Given the description of an element on the screen output the (x, y) to click on. 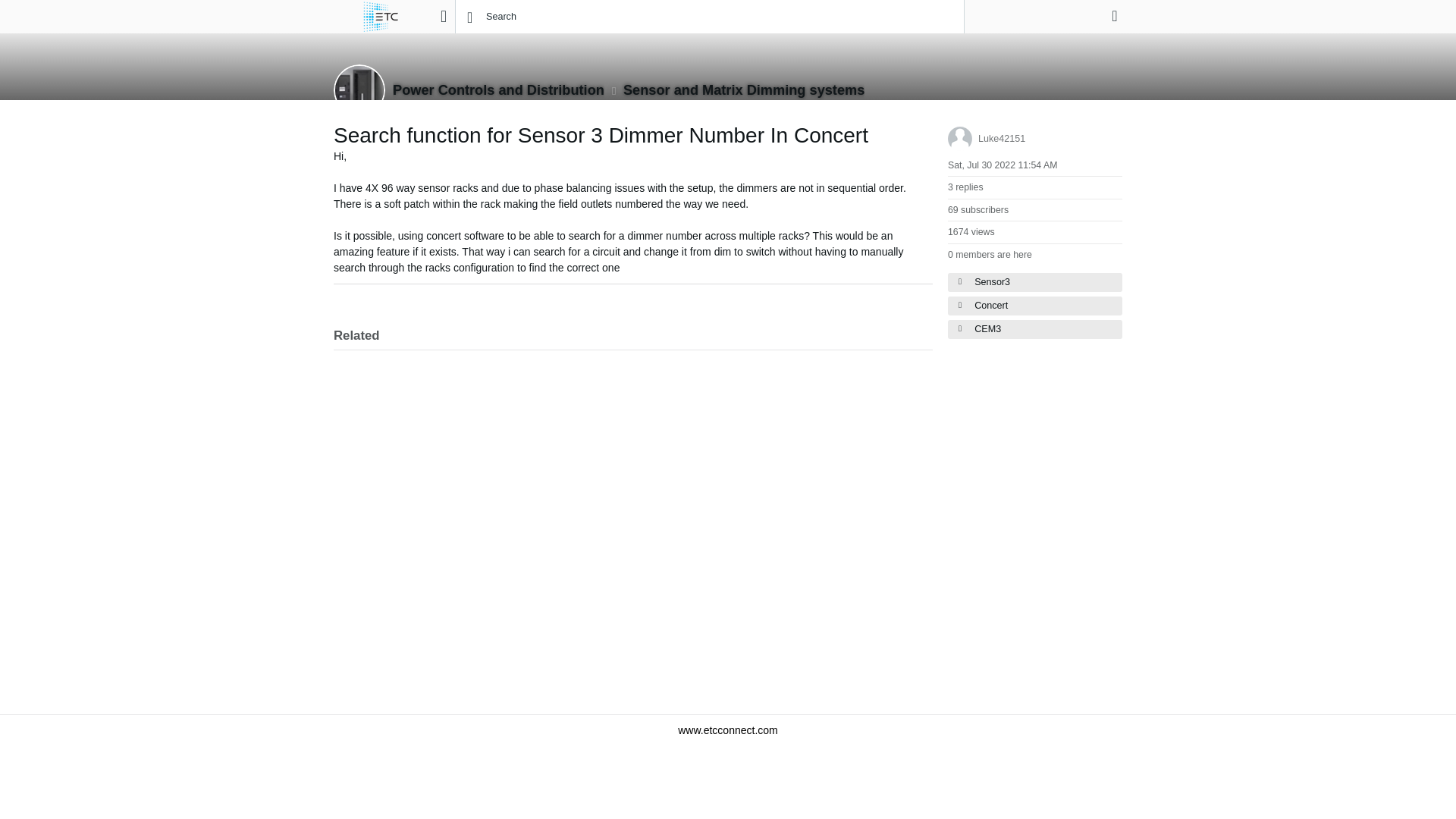
CEM3 (1034, 329)
Sensor3 (1034, 281)
Join or sign in (1114, 15)
Site (443, 15)
Luke42151 (1001, 138)
Home (380, 16)
User (1114, 15)
Power Controls and Distribution (498, 89)
Concert (1034, 305)
Sensor and Matrix Dimming systems (743, 89)
